Given the description of an element on the screen output the (x, y) to click on. 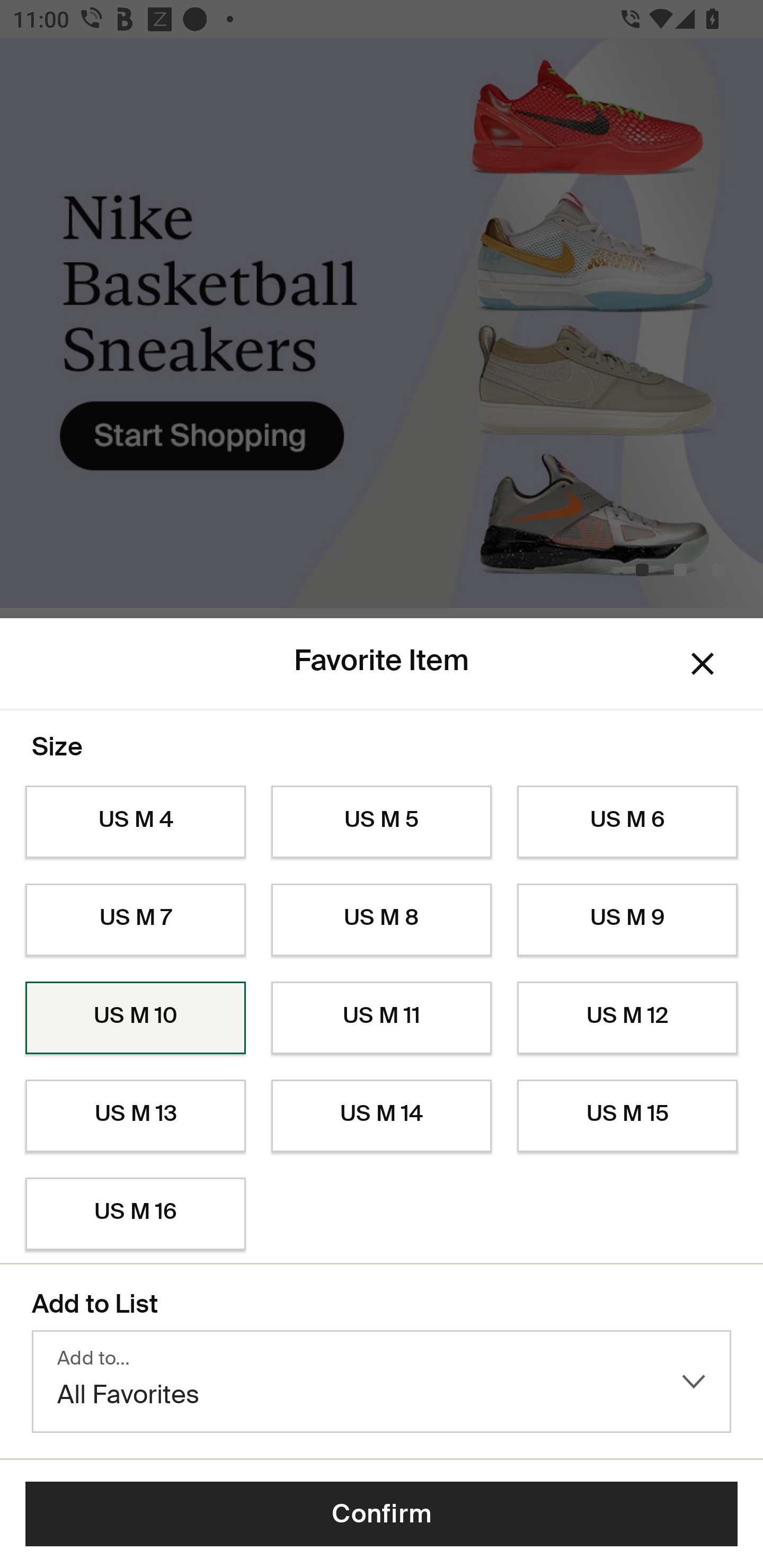
Dismiss (702, 663)
US M 4 (135, 822)
US M 5 (381, 822)
US M 6 (627, 822)
US M 7 (135, 919)
US M 8 (381, 919)
US M 9 (627, 919)
US M 10 (135, 1018)
US M 11 (381, 1018)
US M 12 (627, 1018)
US M 13 (135, 1116)
US M 14 (381, 1116)
US M 15 (627, 1116)
US M 16 (135, 1214)
Add to… All Favorites (381, 1381)
Confirm (381, 1513)
